Given the description of an element on the screen output the (x, y) to click on. 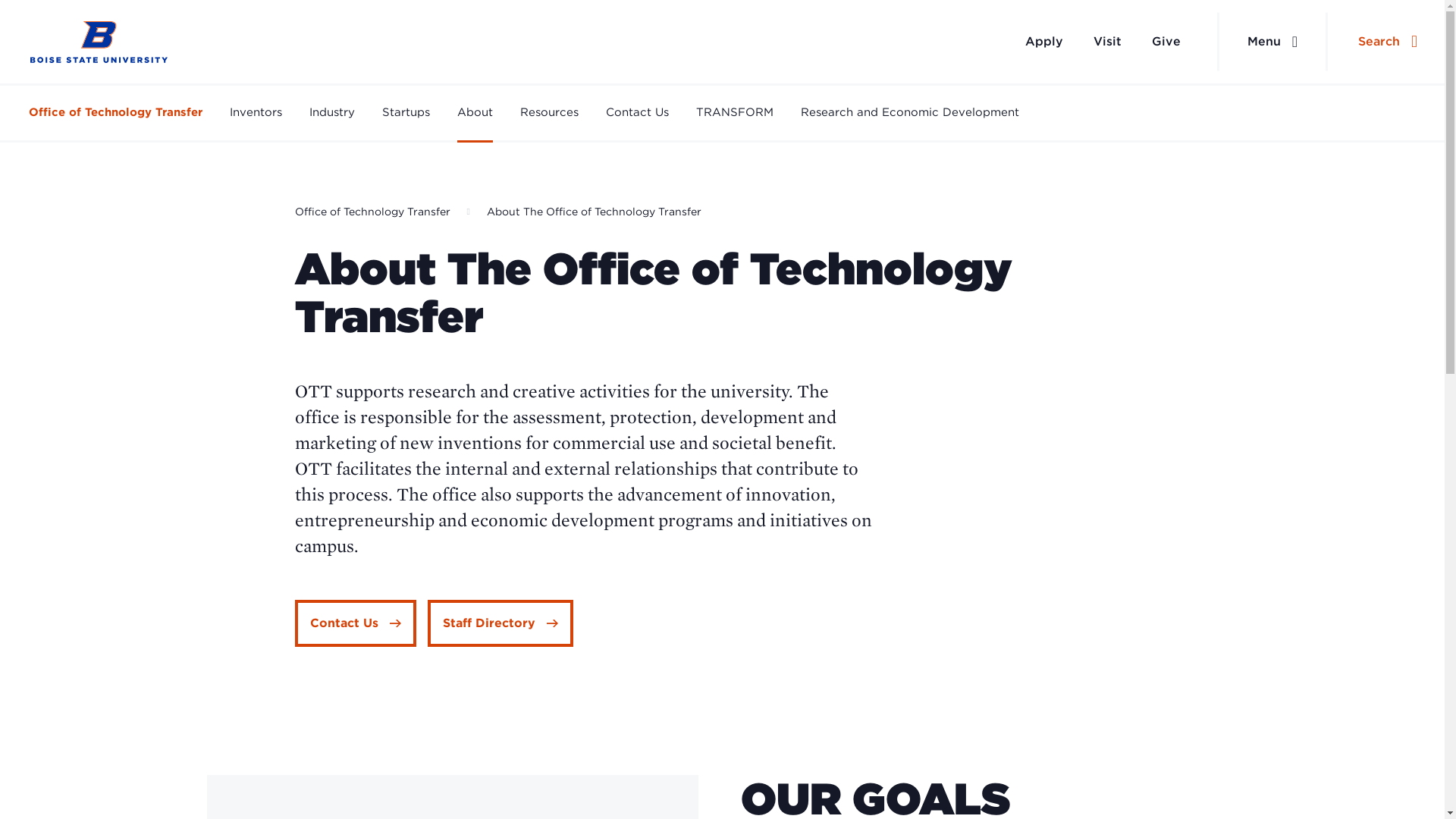
Visit (1107, 41)
Research and Economic Development (909, 112)
Contact Us (354, 623)
Resources (548, 112)
About The Office of Technology Transfer (593, 211)
Office of Technology Transfer (371, 211)
Give (1166, 41)
Menu (1272, 41)
Staff Directory (500, 623)
Office of Technology Transfer (115, 112)
